Given the description of an element on the screen output the (x, y) to click on. 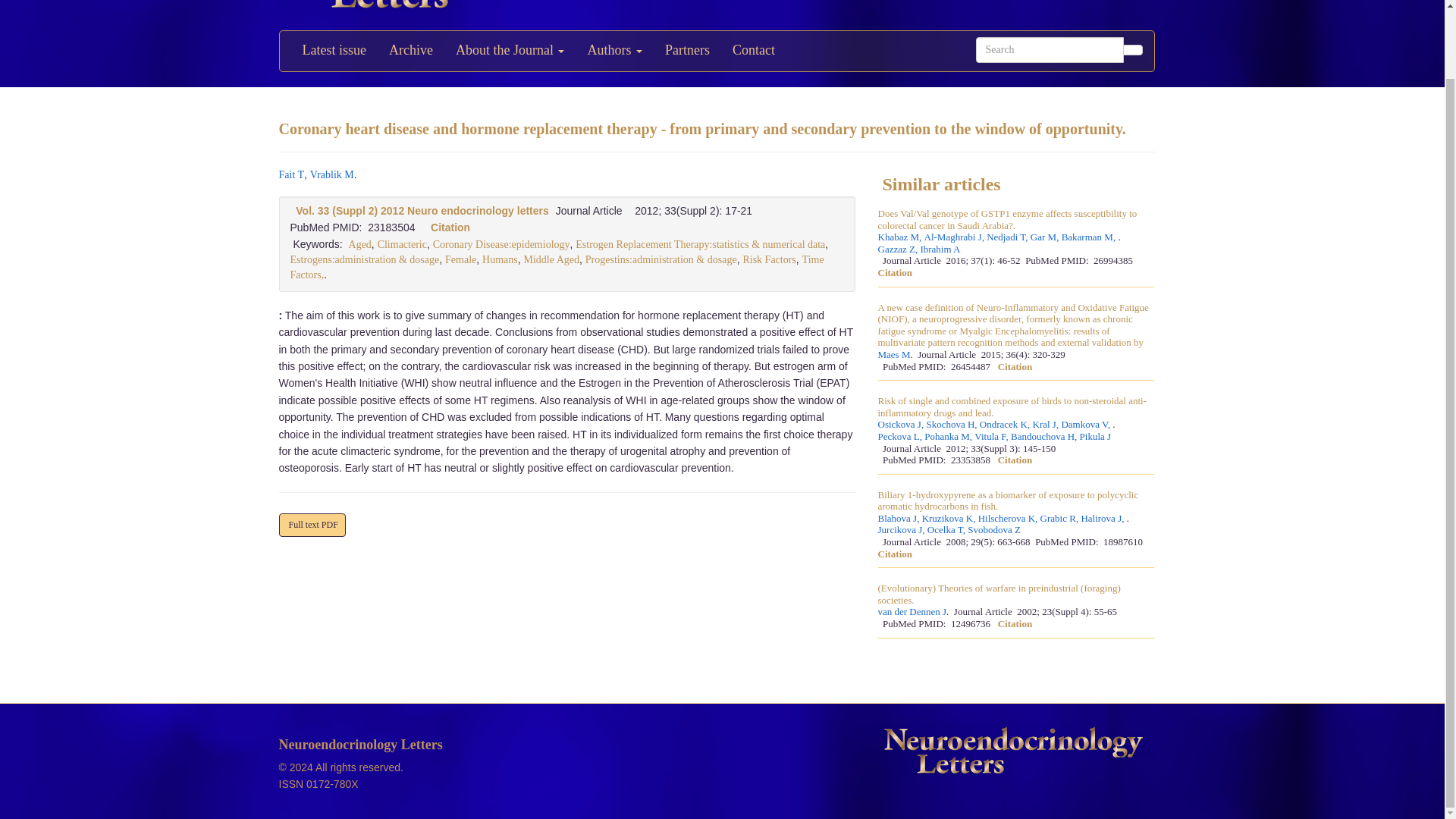
Fait T (291, 174)
 Full text PDF (312, 525)
Contact (753, 51)
Time Factors, (556, 266)
Authors (614, 51)
Risk Factors (768, 259)
NEL330812A04.pdf (312, 525)
Humans (499, 259)
Gar M,  (1045, 236)
Khabaz M,  (900, 236)
Archive (410, 51)
Vrablik M (331, 174)
Latest issue (334, 51)
Female (460, 259)
Citation (450, 227)
